Given the description of an element on the screen output the (x, y) to click on. 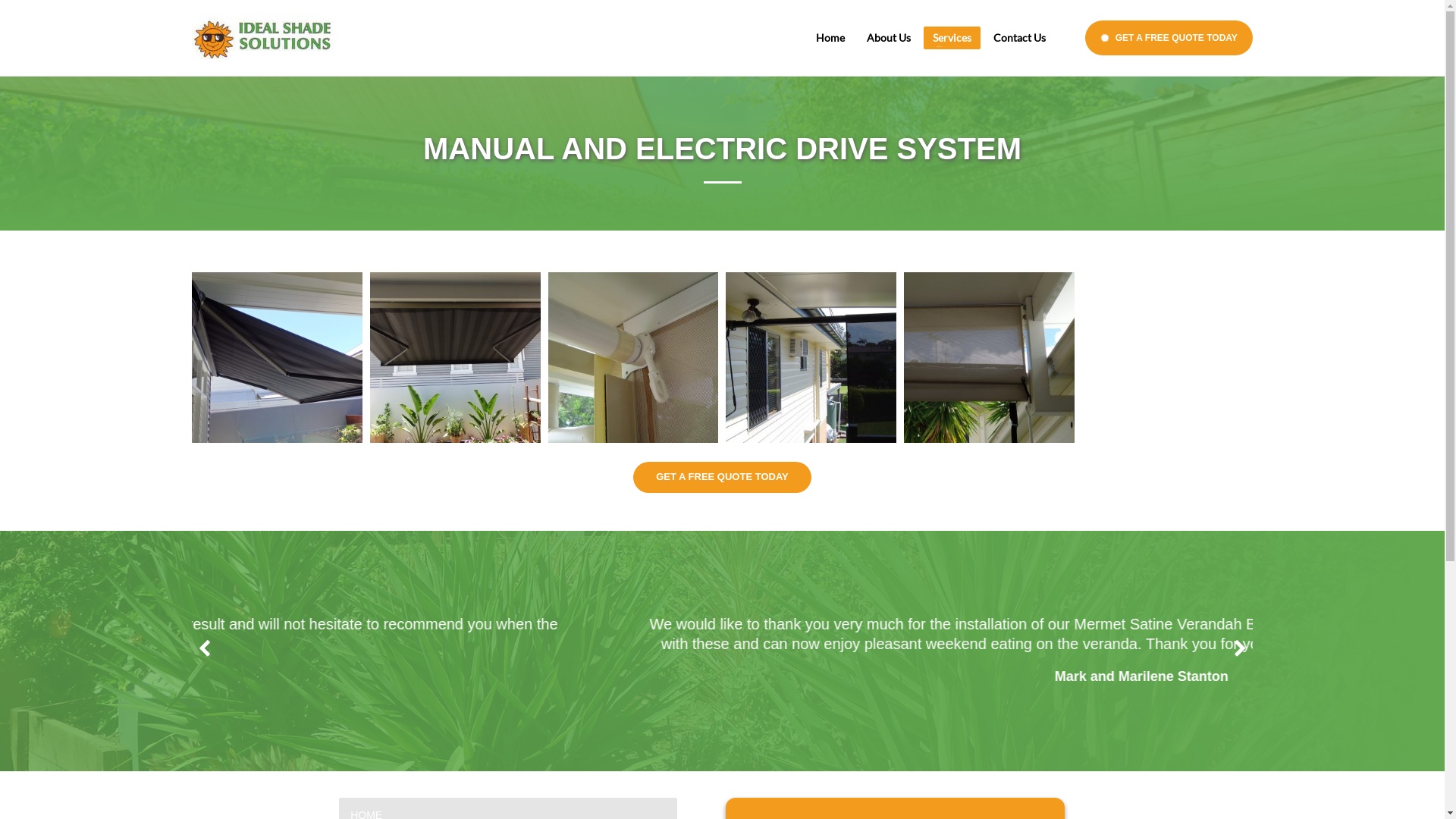
manual Element type: hover (810, 357)
Home Element type: text (829, 37)
Contact Us Element type: text (1019, 37)
OLYMPUS DIGITAL CAMERA Element type: hover (988, 357)
OLYMPUS DIGITAL CAMERA Element type: hover (455, 357)
pvc blinds5 Element type: hover (633, 357)
Services Element type: text (951, 37)
GET A FREE QUOTE TODAY Element type: text (722, 476)
OLYMPUS DIGITAL CAMERA Element type: hover (276, 357)
Keep Cool This Summer Element type: hover (262, 37)
About Us Element type: text (888, 37)
GET A FREE QUOTE TODAY Element type: text (1168, 37)
